Given the description of an element on the screen output the (x, y) to click on. 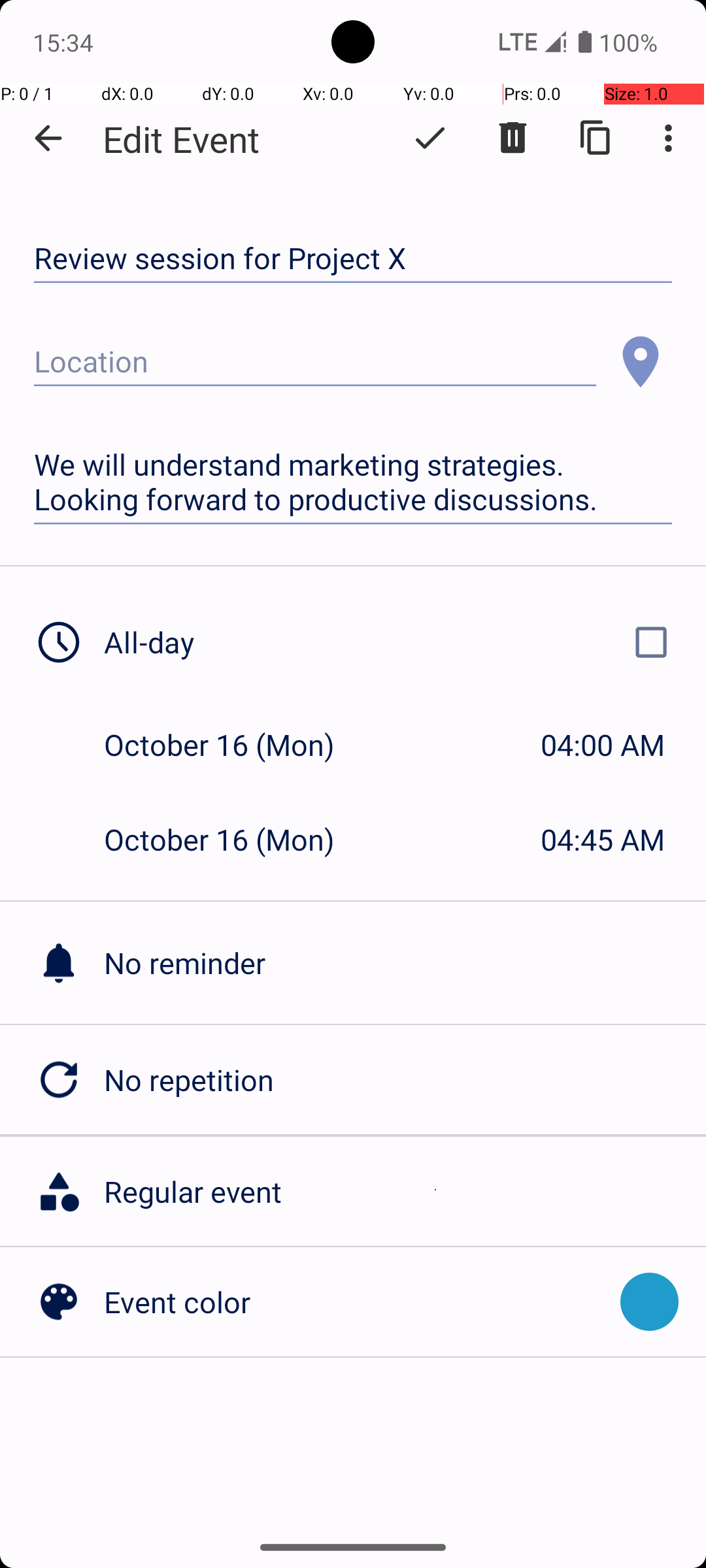
Review session for Project X Element type: android.widget.EditText (352, 258)
We will understand marketing strategies. Looking forward to productive discussions. Element type: android.widget.EditText (352, 482)
04:00 AM Element type: android.widget.TextView (602, 744)
04:45 AM Element type: android.widget.TextView (602, 838)
